Given the description of an element on the screen output the (x, y) to click on. 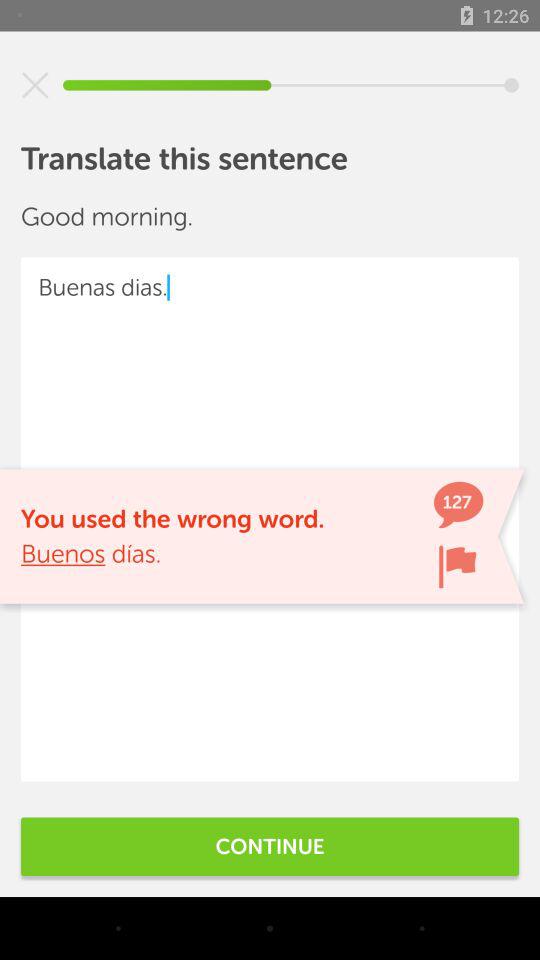
click to mark notification (457, 566)
